Given the description of an element on the screen output the (x, y) to click on. 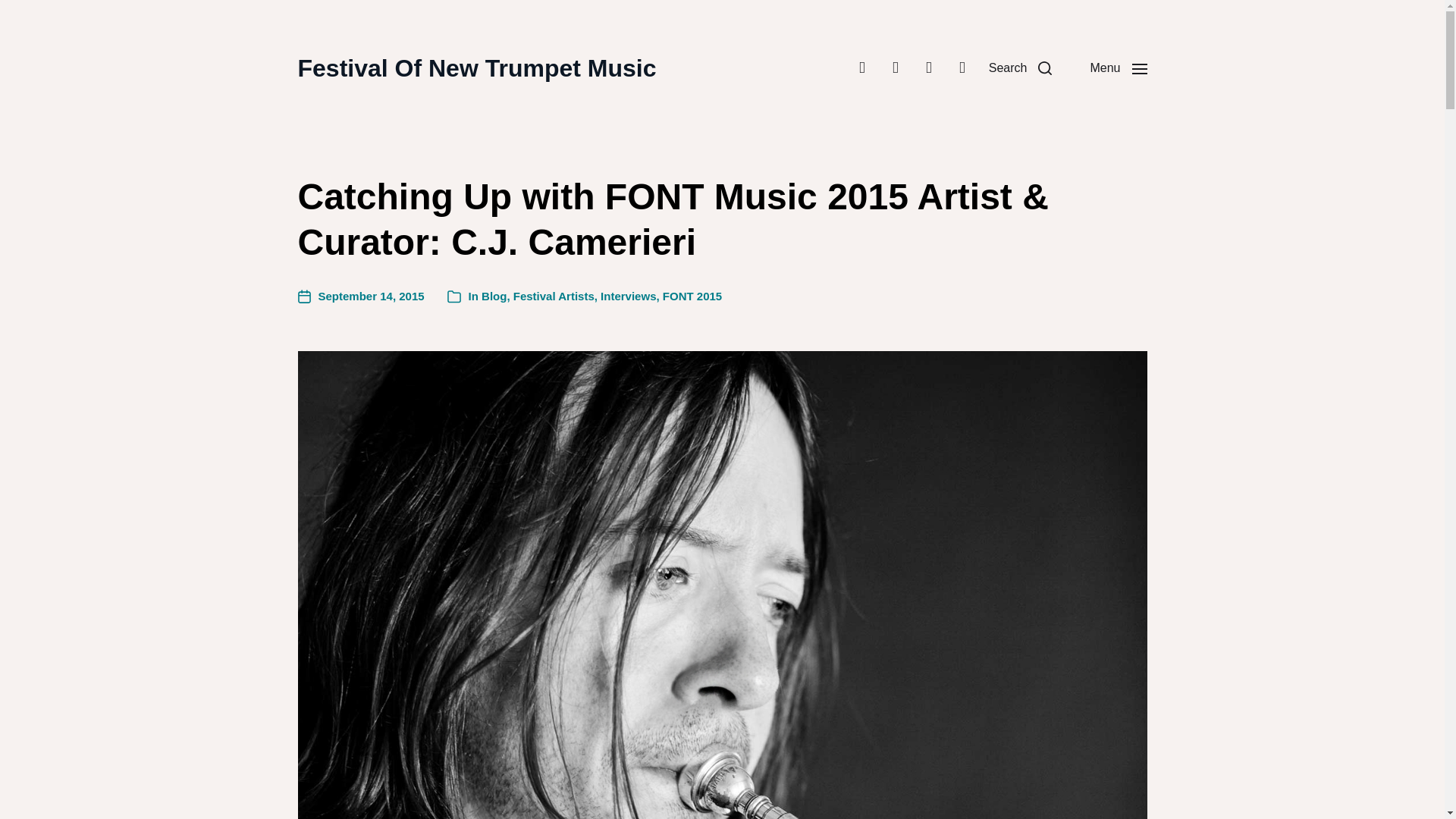
Festival Of New Trumpet Music (476, 68)
